Given the description of an element on the screen output the (x, y) to click on. 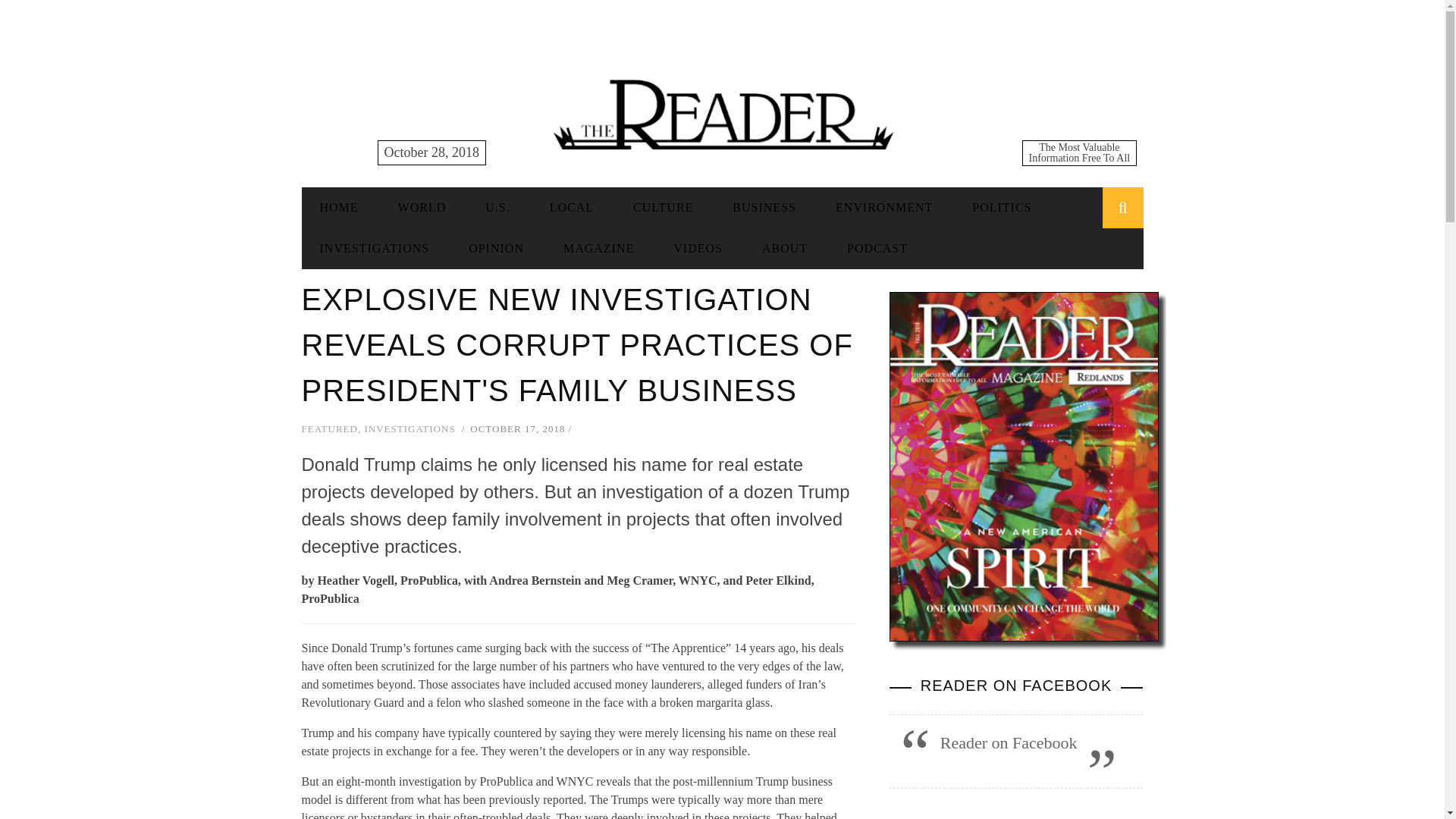
HOME (339, 206)
WORLD (422, 206)
